Given the description of an element on the screen output the (x, y) to click on. 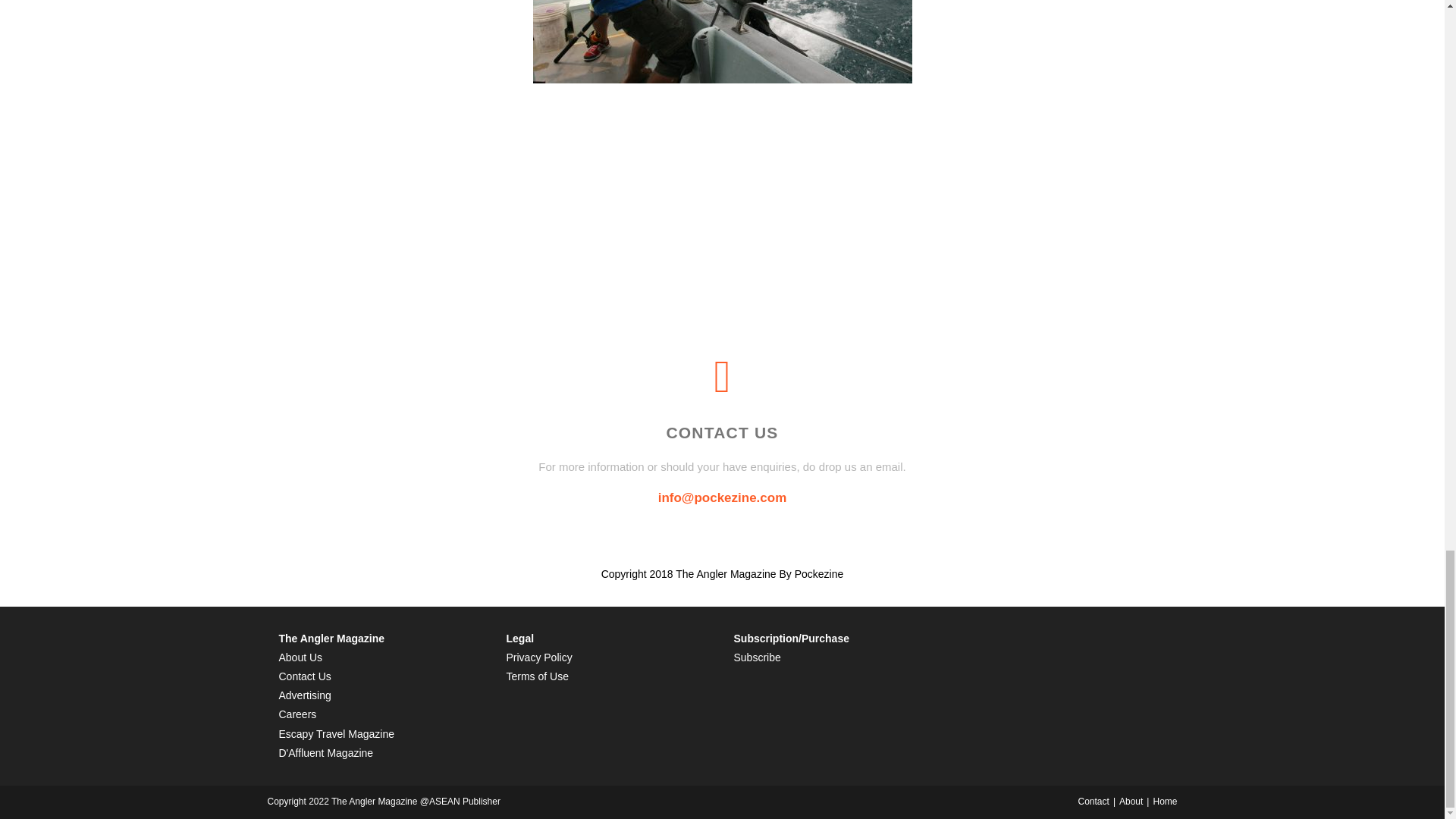
More Articles (722, 117)
About (1130, 801)
CONTACT US (721, 432)
About Us (301, 657)
Home (1164, 801)
Careers (298, 714)
fishfight (721, 41)
Terms of Use (537, 676)
Privacy Policy (539, 657)
The Angler Magazine (332, 638)
